Given the description of an element on the screen output the (x, y) to click on. 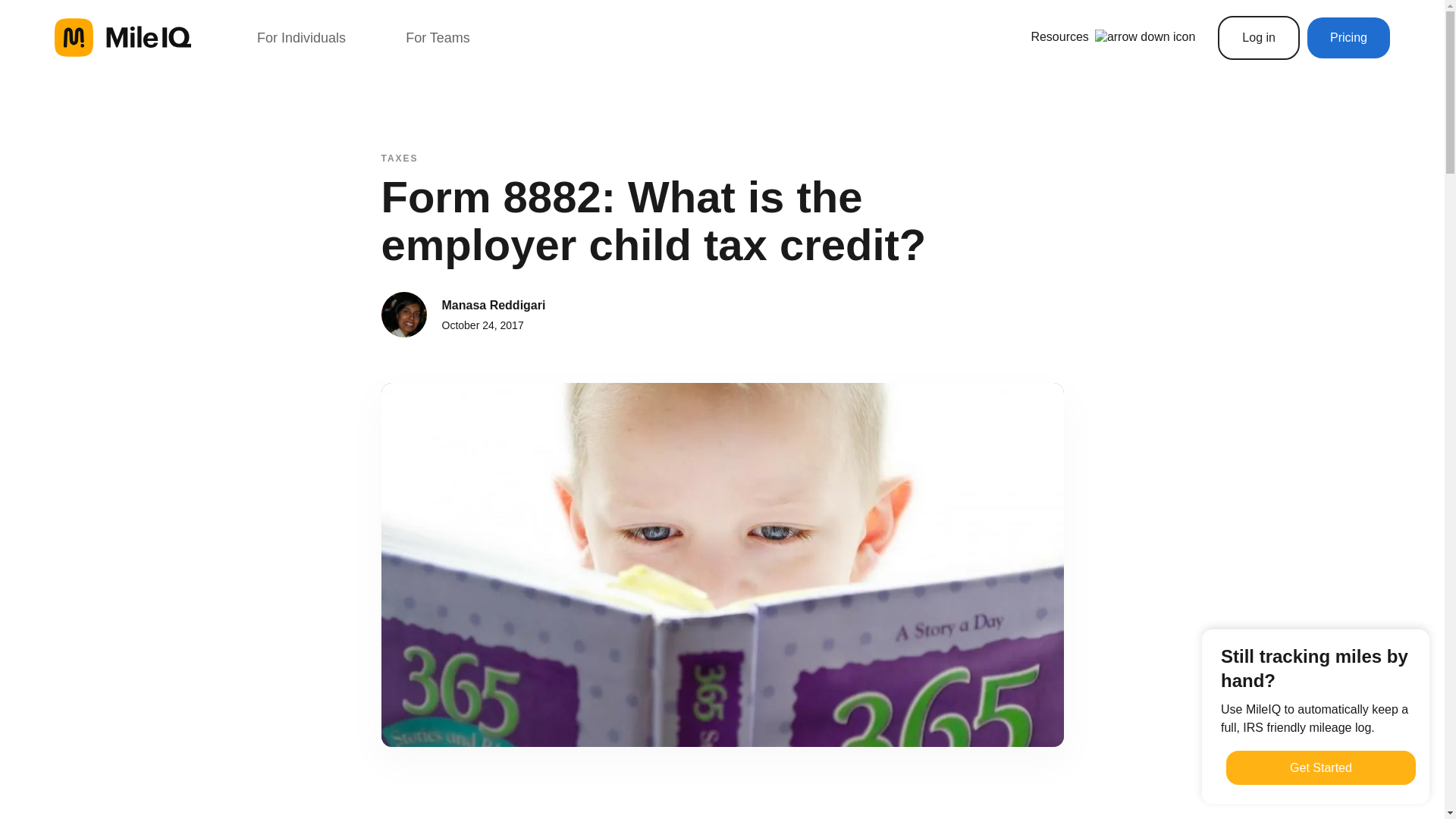
Log in (1258, 37)
Resources (1112, 37)
Pricing (1348, 37)
For Individuals (300, 37)
For Teams (437, 37)
Search (30, 15)
